Given the description of an element on the screen output the (x, y) to click on. 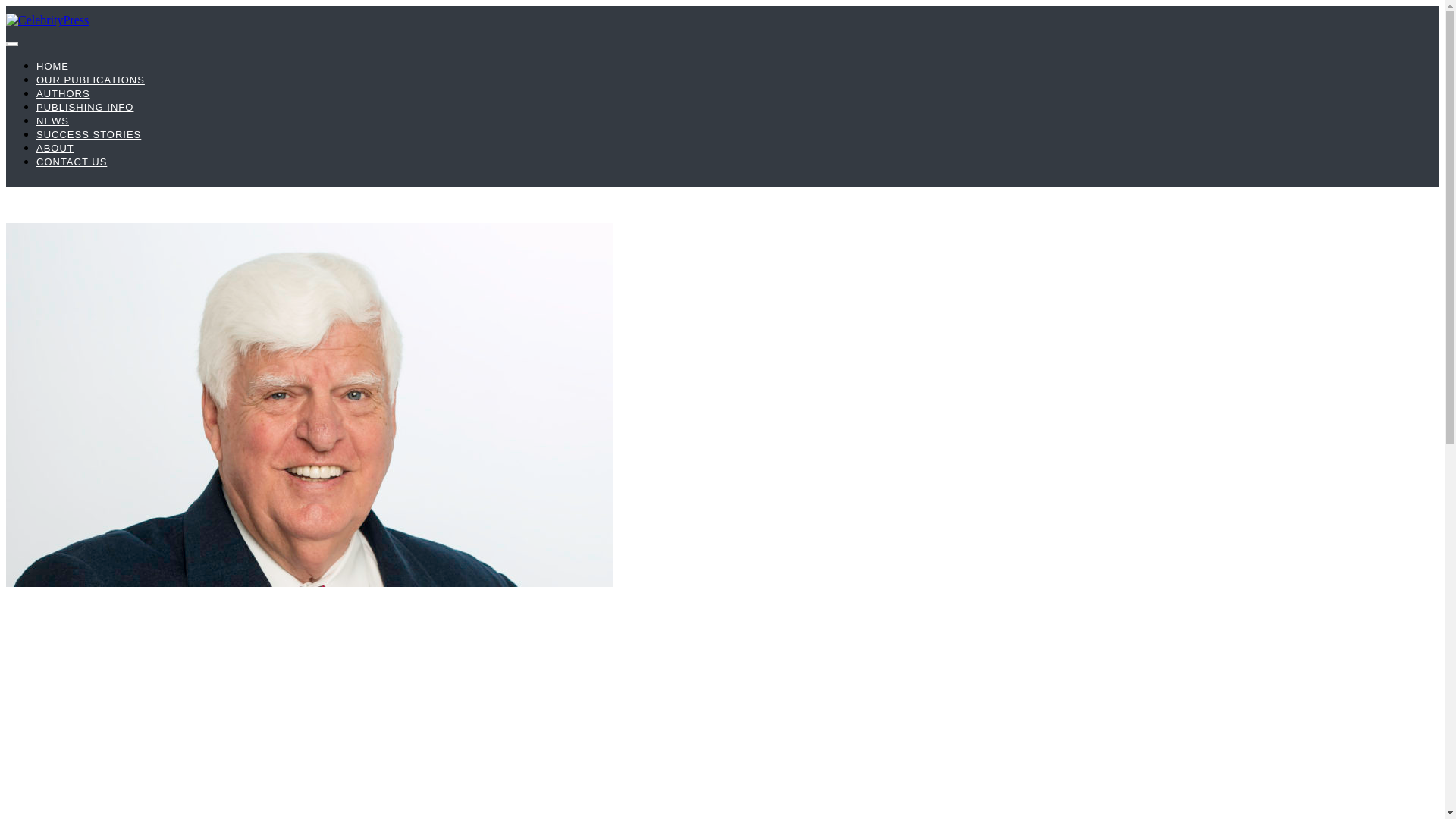
NEWS (52, 120)
SUCCESS STORIES (88, 134)
HOME (52, 66)
AUTHORS (63, 93)
CONTACT US (71, 161)
OUR PUBLICATIONS (90, 79)
PUBLISHING INFO (84, 107)
ABOUT (55, 147)
